Given the description of an element on the screen output the (x, y) to click on. 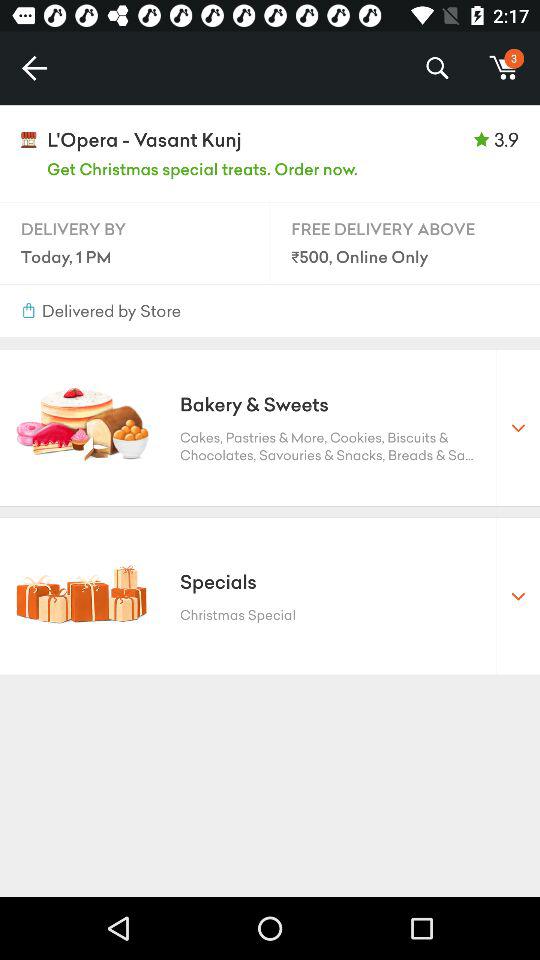
press the icon to the left of the % icon (33, 67)
